Given the description of an element on the screen output the (x, y) to click on. 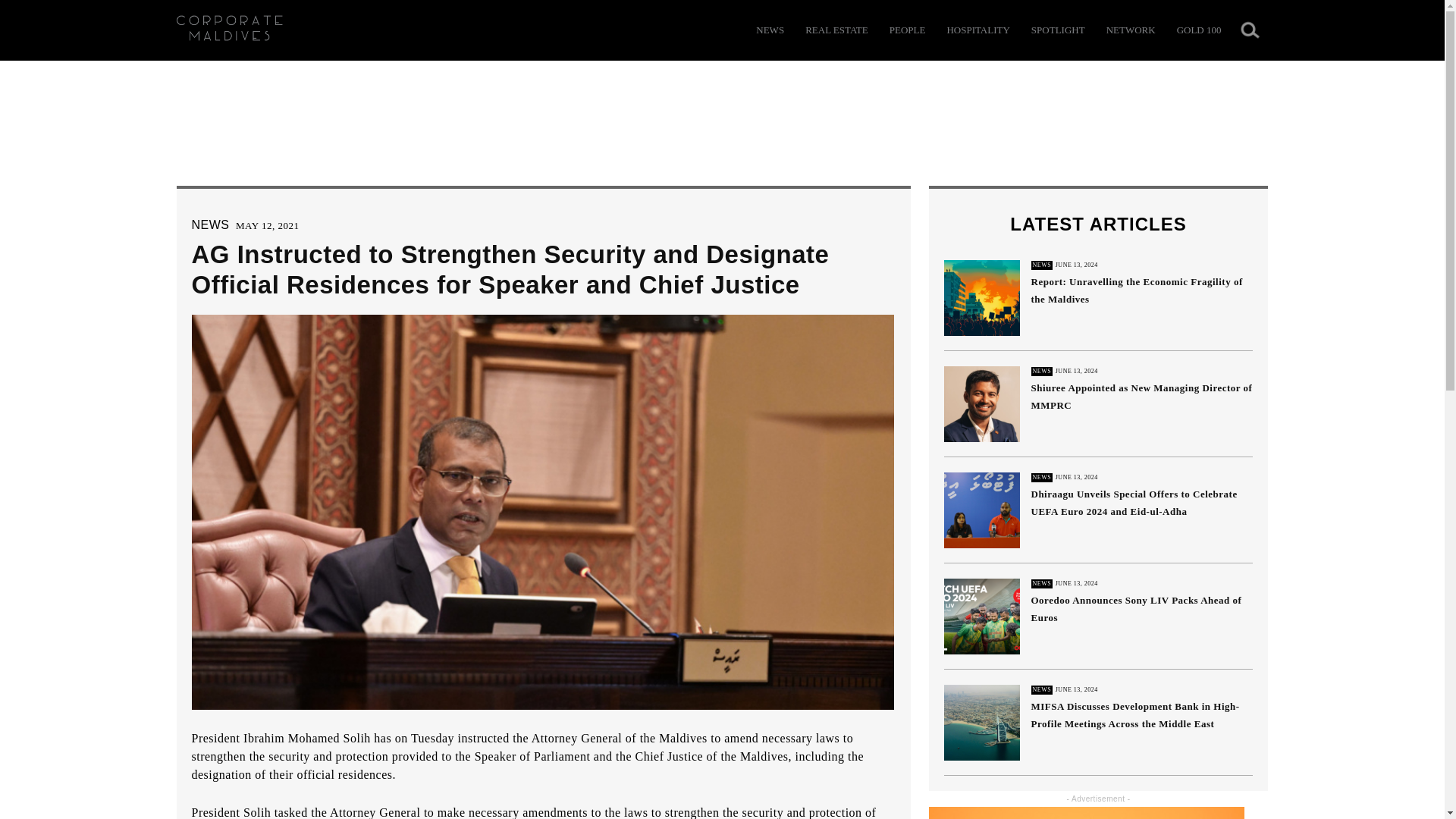
NEWS (769, 30)
GOLD 100 (1198, 30)
NEWS (209, 224)
HOSPITALITY (977, 30)
REAL ESTATE (836, 30)
NETWORK (1131, 30)
PEOPLE (907, 30)
SPOTLIGHT (1057, 30)
